Given the description of an element on the screen output the (x, y) to click on. 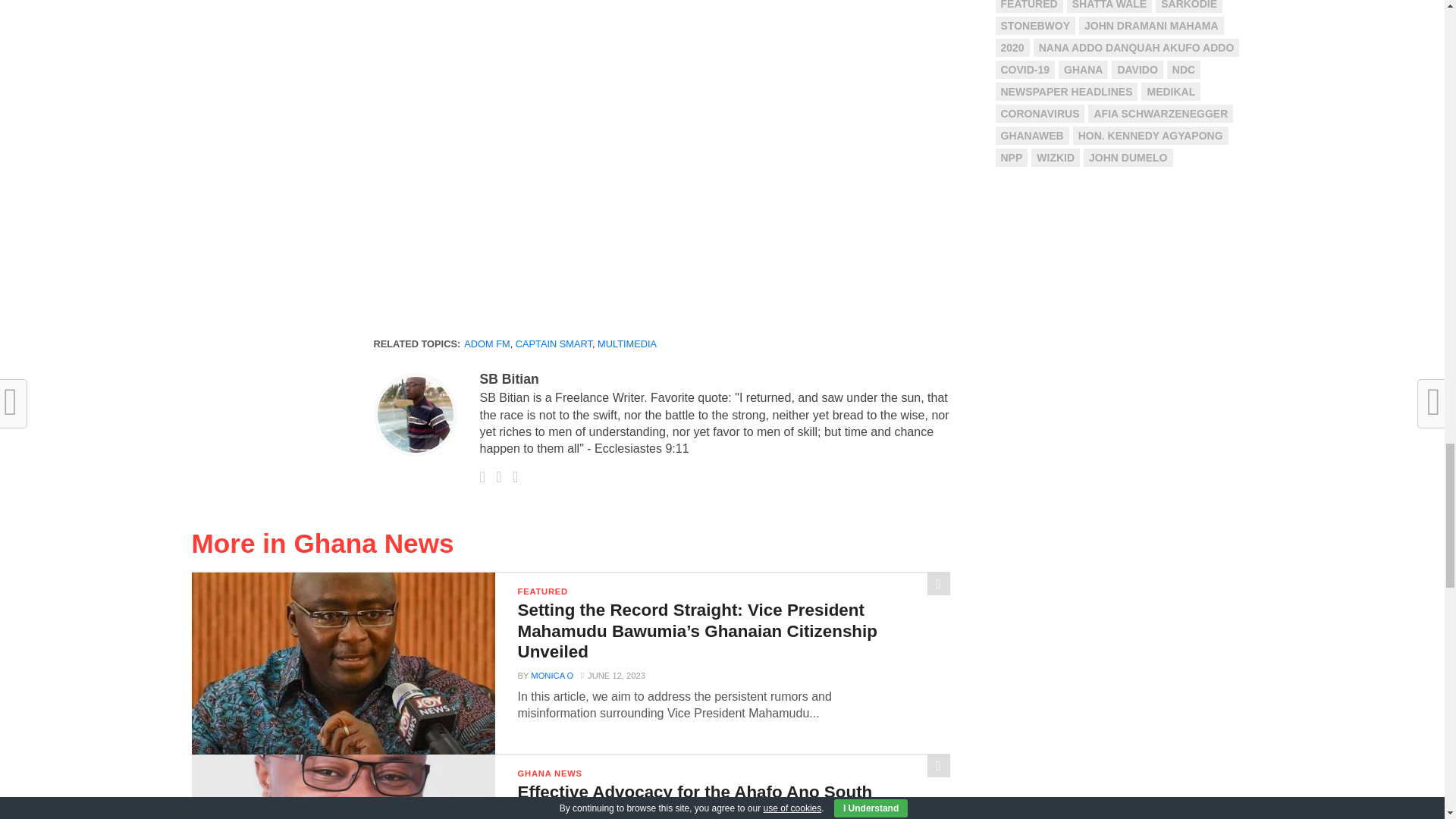
Posts by Monica O (552, 675)
Advertisement (660, 201)
Posts by SB Bitian (508, 378)
Advertisement (660, 47)
